Given the description of an element on the screen output the (x, y) to click on. 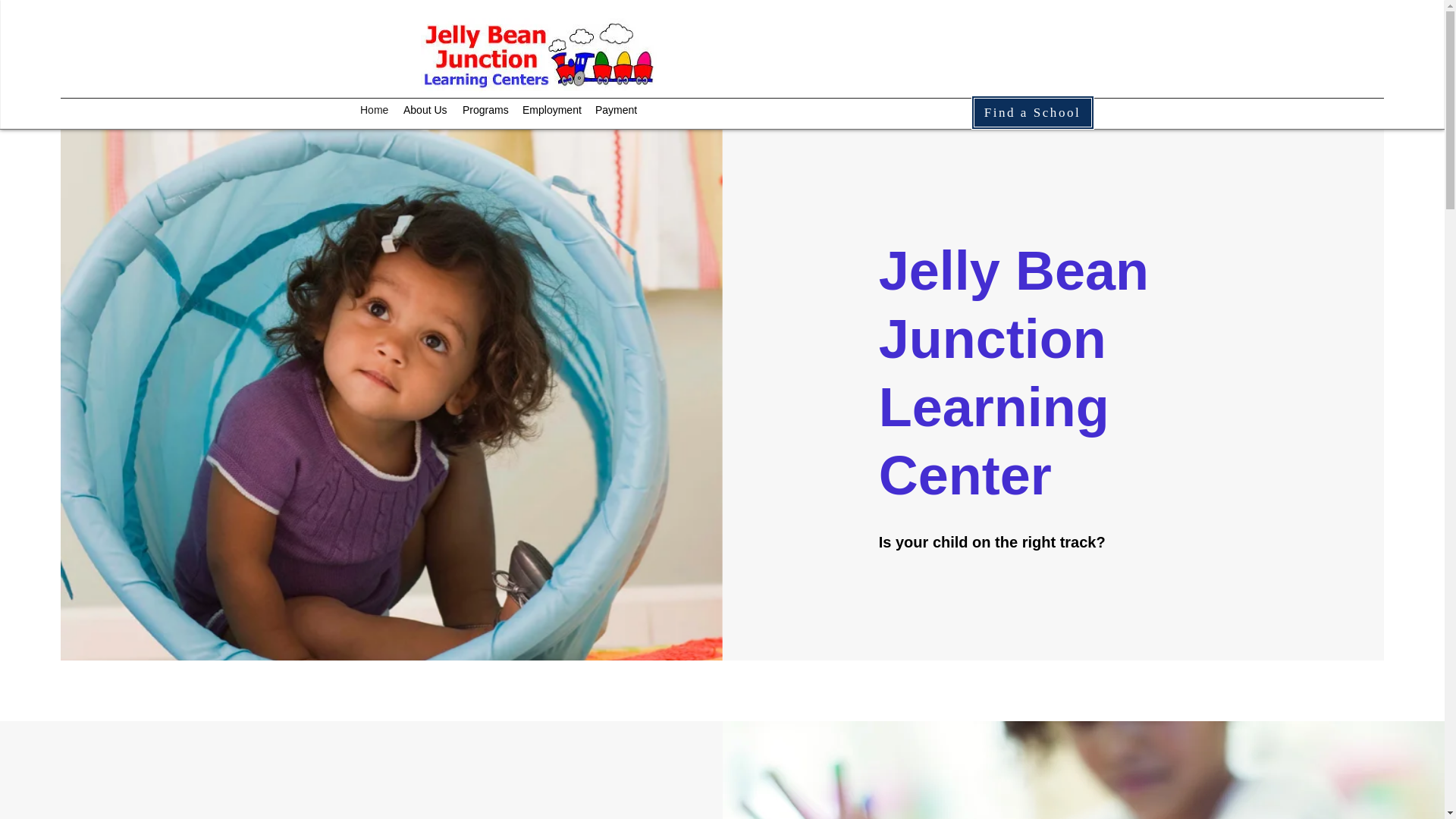
Payment (615, 109)
Programs (484, 109)
About Us (425, 109)
Employment (551, 109)
Untitled.jpg (539, 55)
Find a School (1032, 112)
Home (374, 109)
